Given the description of an element on the screen output the (x, y) to click on. 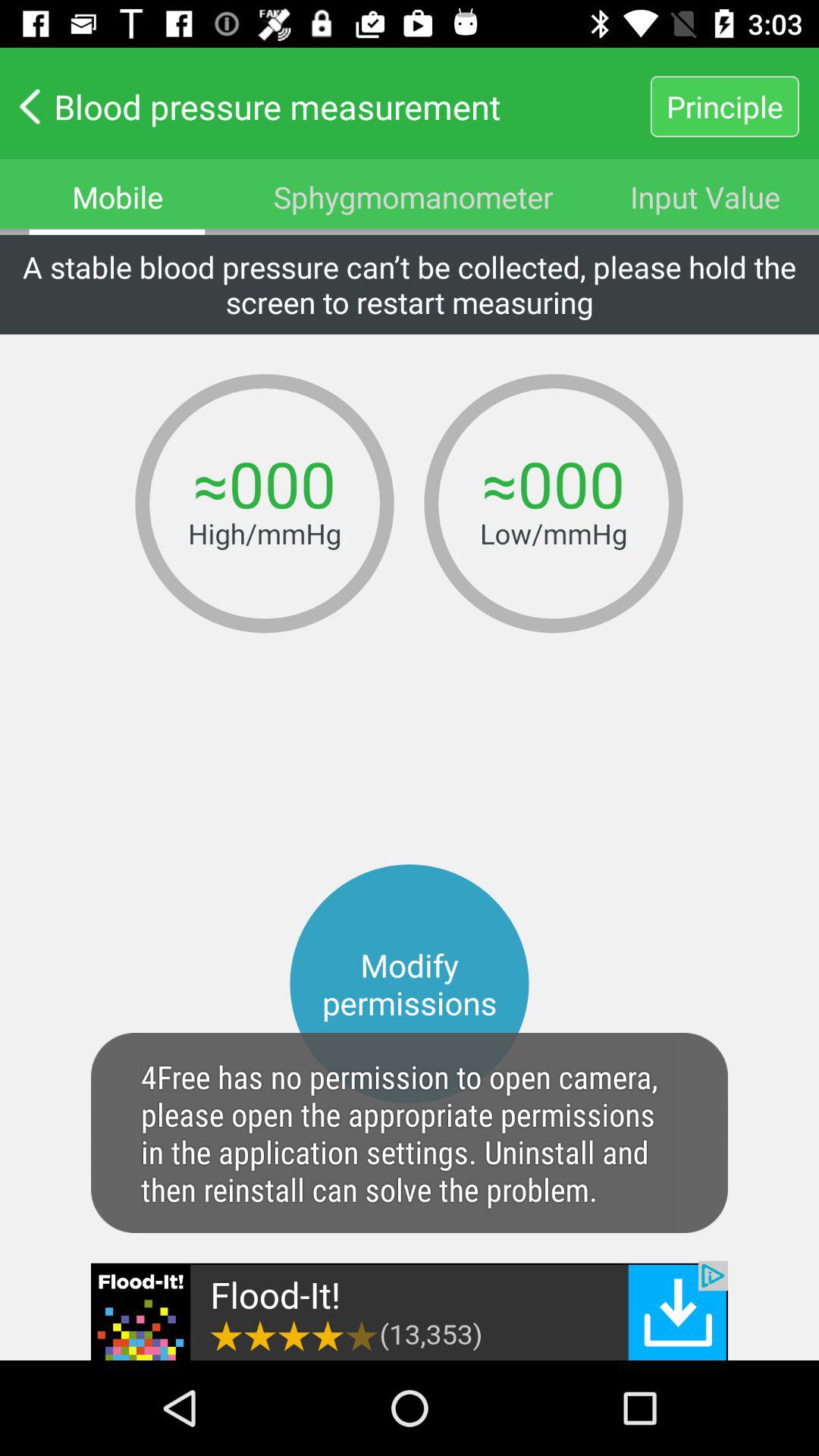
select the text principle which is top left side of the page (724, 106)
click on input value (705, 196)
select the text sphygmomanometer (413, 196)
